Given the description of an element on the screen output the (x, y) to click on. 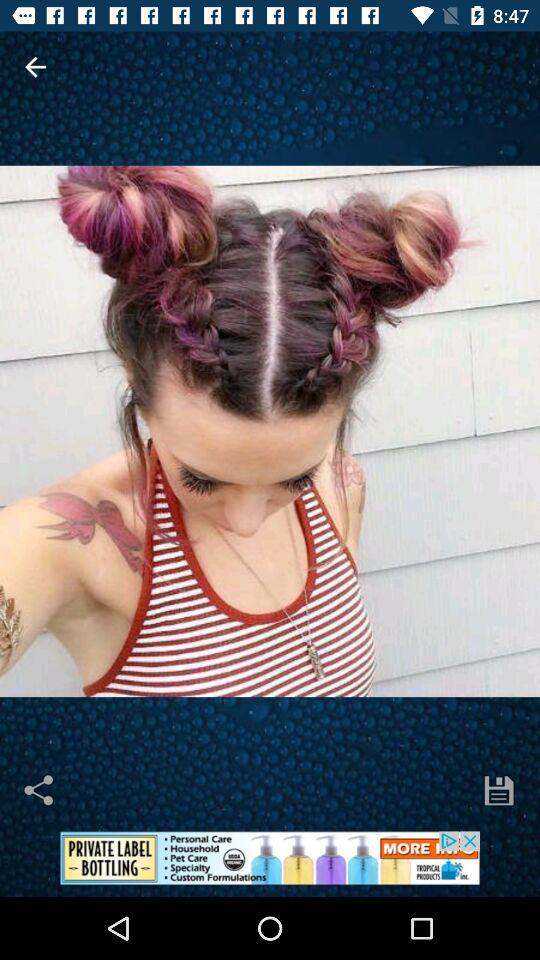
save (499, 790)
